Given the description of an element on the screen output the (x, y) to click on. 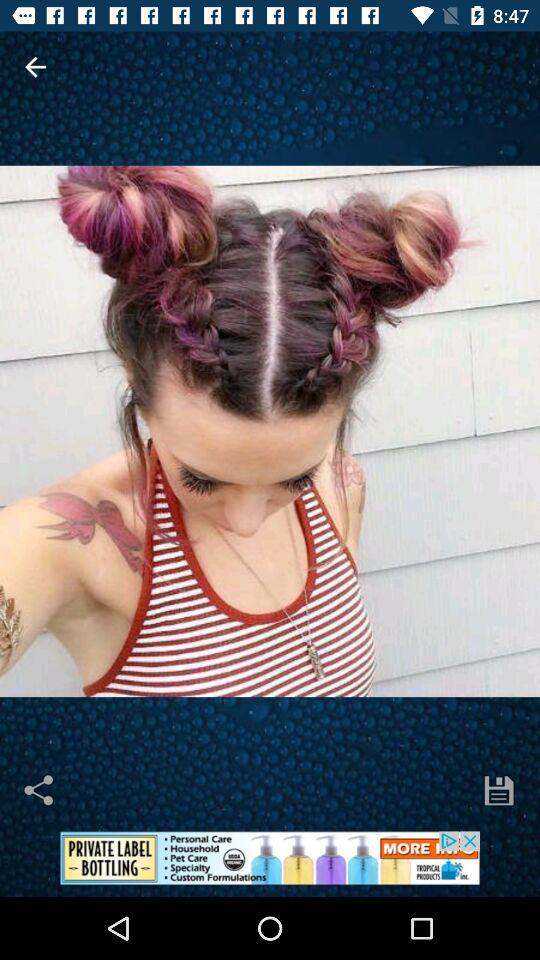
save (499, 790)
